Given the description of an element on the screen output the (x, y) to click on. 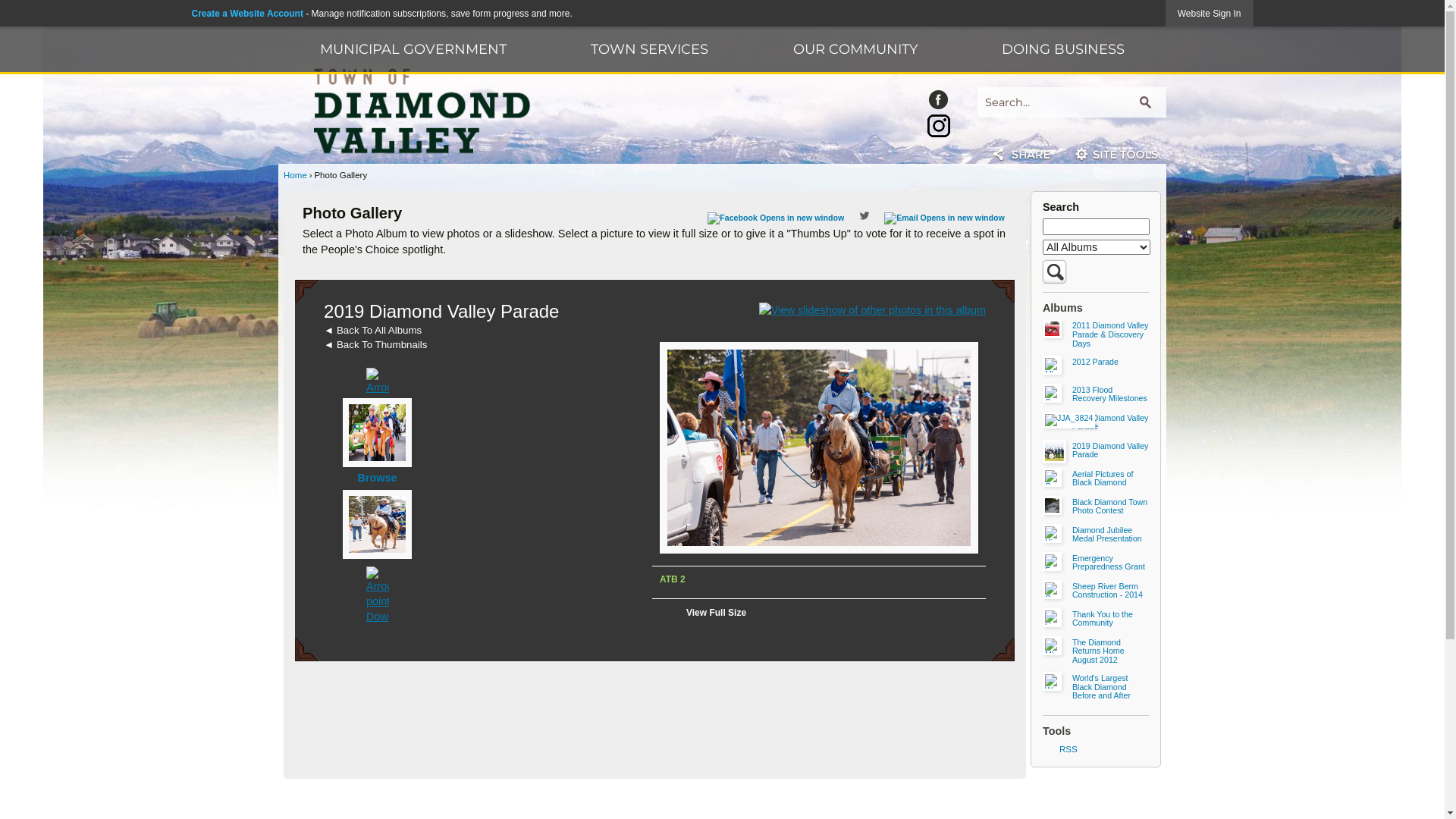
View Full Size Element type: text (720, 621)
Share on Facebook Element type: hover (775, 218)
TOWN SERVICES Element type: text (649, 48)
Search... Element type: hover (1071, 102)
Create a Website Account Element type: text (246, 13)
Share on Twitter Element type: hover (864, 215)
Go to the next photo in this album. Element type: hover (377, 595)
Diamond Jubilee Medal Presentation Element type: text (1110, 534)
2011 Diamond Valley Parade & Discovery Days Element type: text (1110, 334)
Go to the previous photo in this album. Element type: hover (377, 396)
Share via Email Element type: hover (944, 218)
2018 Diamond Valley Parade Element type: text (1110, 422)
Website Sign In Element type: text (1209, 13)
Search terms Element type: hover (1095, 226)
2019 Diamond Valley Parade Element type: text (1110, 450)
World's Largest Black Diamond Before and After Element type: text (1110, 687)
Home Element type: text (295, 174)
Aerial Pictures of Black Diamond Element type: text (1110, 478)
Browse Element type: text (376, 477)
Sheep River Berm Construction - 2014 Element type: text (1110, 590)
The Diamond Returns Home August 2012 Element type: text (1110, 651)
2012 Parade Element type: text (1110, 362)
2013 Flood Recovery Milestones Element type: text (1110, 394)
Black Diamond Town Photo Contest Element type: text (1110, 506)
Emergency Preparedness Grant Element type: text (1110, 562)
Thank You to the Community Element type: text (1110, 618)
MUNICIPAL GOVERNMENT Element type: text (413, 48)
DOING BUSINESS Element type: text (1062, 48)
OUR COMMUNITY Element type: text (854, 48)
Skip to Main Content Element type: text (6, 6)
RSS Element type: text (1095, 749)
